Given the description of an element on the screen output the (x, y) to click on. 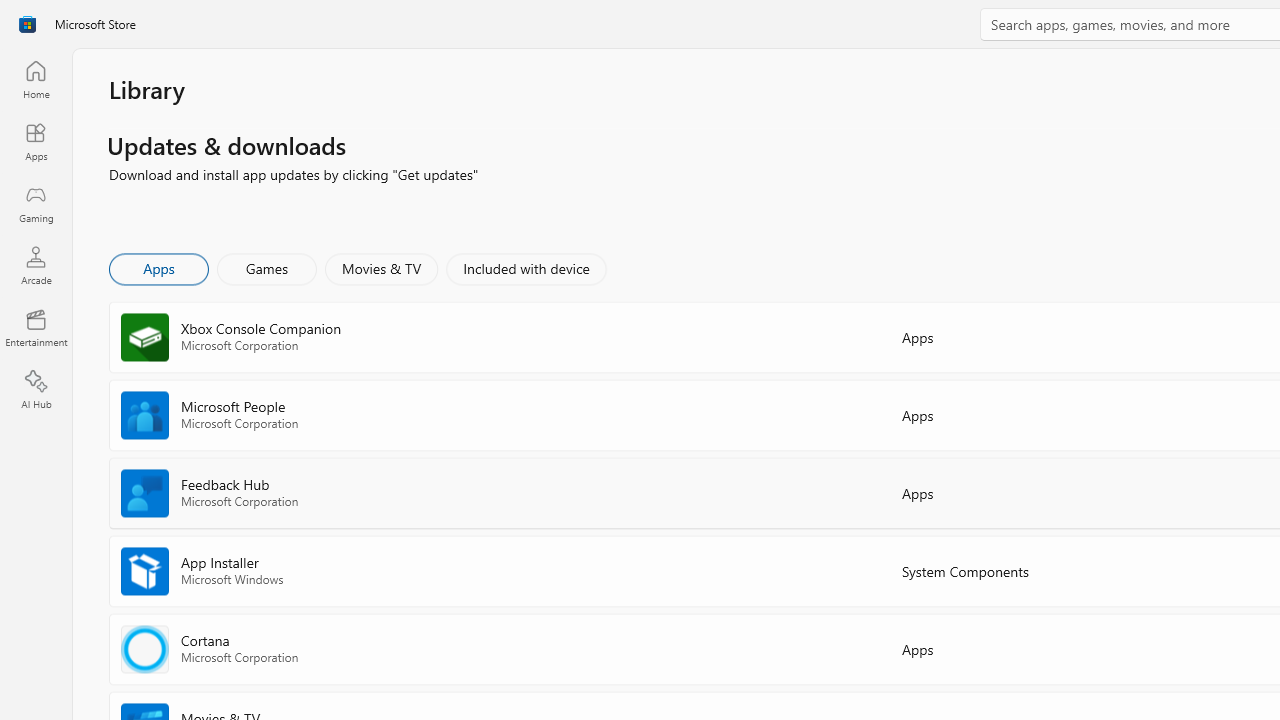
Included with device (525, 268)
Apps (158, 268)
AI Hub (35, 390)
Gaming (35, 203)
Home (35, 79)
Games (267, 268)
Movies & TV (381, 268)
Arcade (35, 265)
Apps (35, 141)
Entertainment (35, 327)
Class: Image (27, 24)
